Given the description of an element on the screen output the (x, y) to click on. 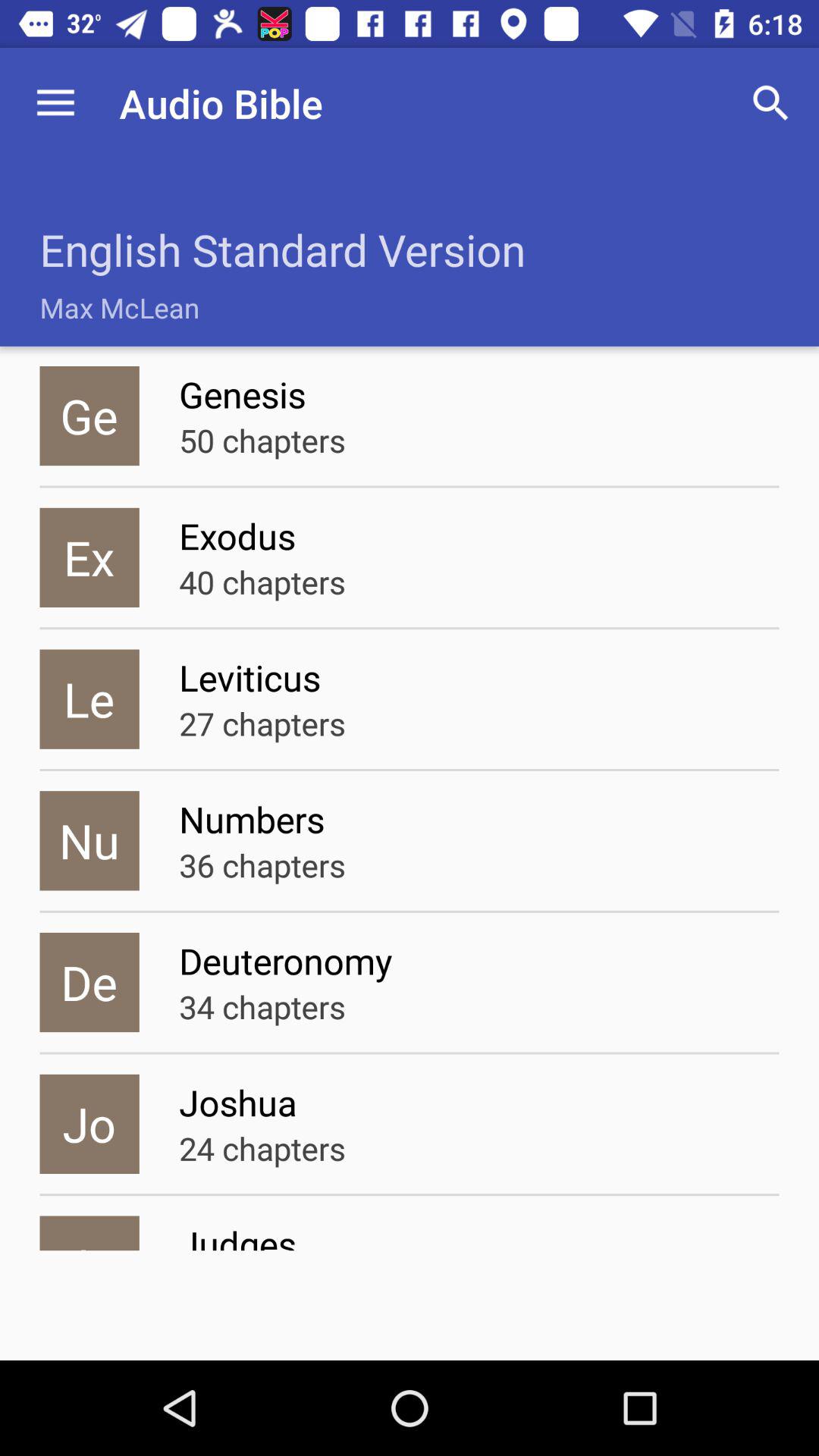
open item above 50 chapters item (479, 394)
